Given the description of an element on the screen output the (x, y) to click on. 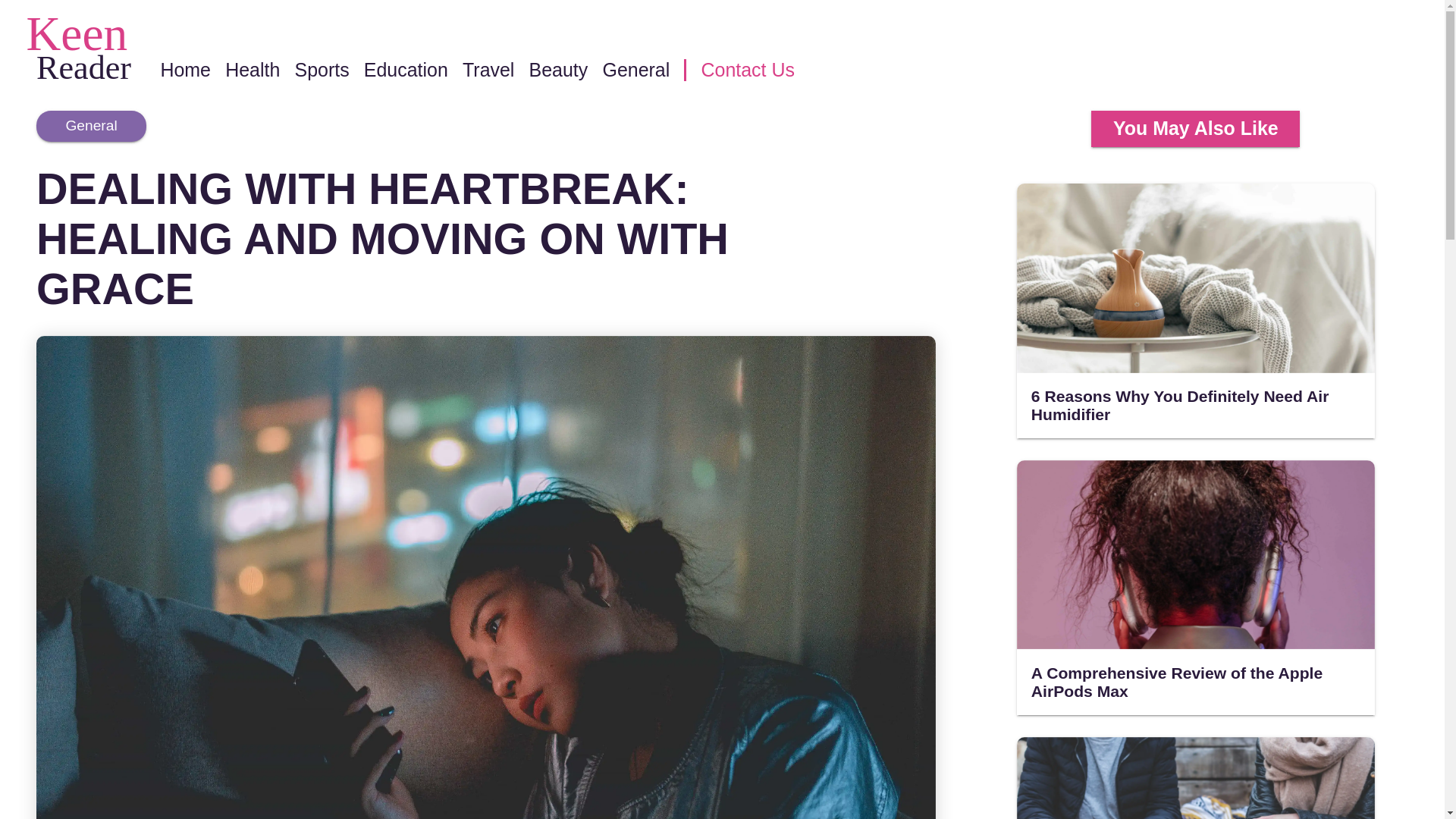
Sports (321, 69)
Beauty (558, 69)
6 Reasons Why You Definitely Need Air Humidifier (1195, 310)
A Comprehensive Review of the Apple AirPods Max (1195, 587)
Travel (488, 69)
Best Manual Coffee Brewing Methods (1195, 778)
Home (185, 69)
General (635, 69)
Contact Us (746, 69)
Education (406, 69)
